Given the description of an element on the screen output the (x, y) to click on. 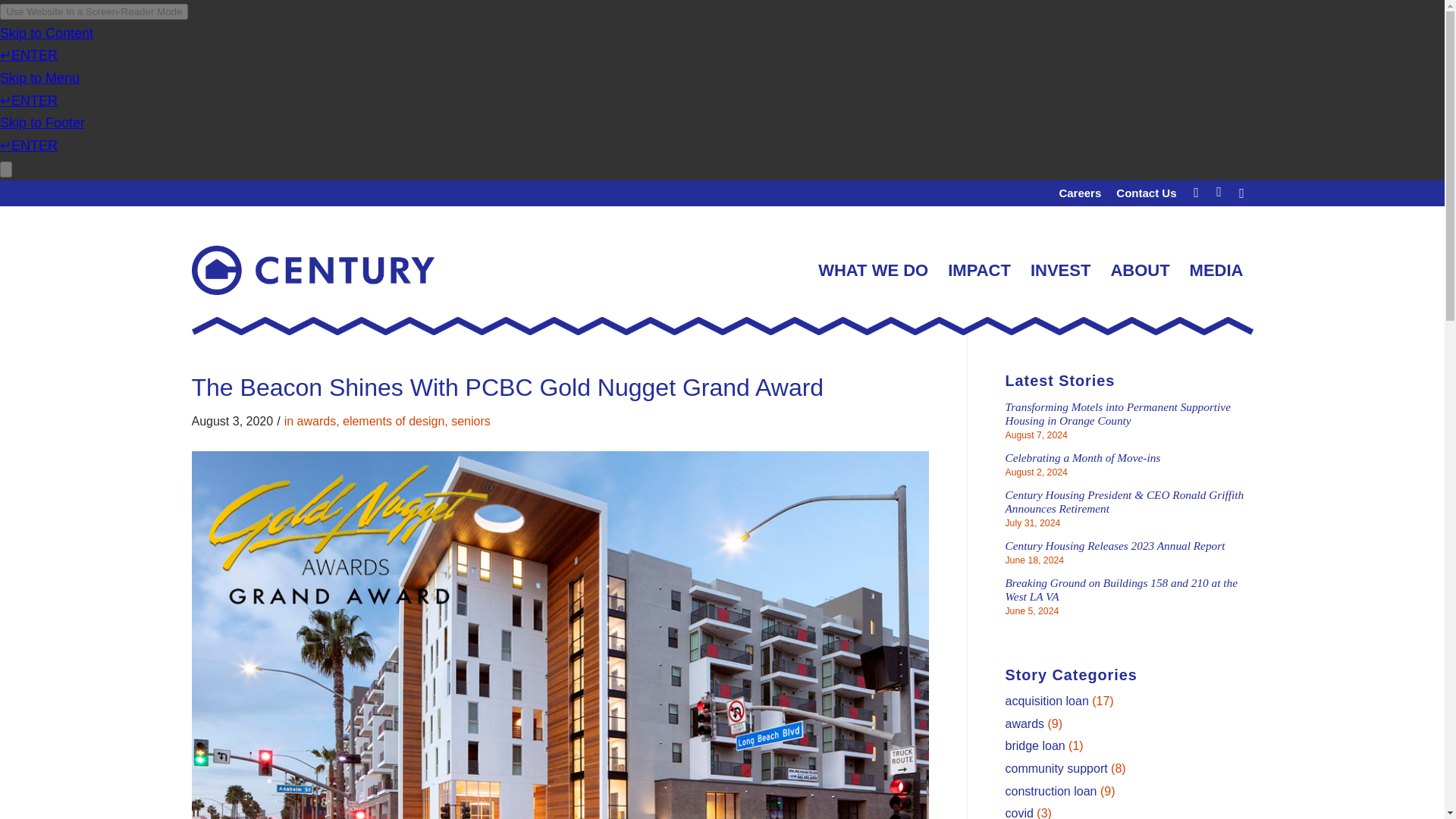
Century-logo (311, 270)
Careers (1079, 191)
WHAT WE DO (872, 270)
Century-logo (311, 270)
Contact Us (1146, 191)
